Given the description of an element on the screen output the (x, y) to click on. 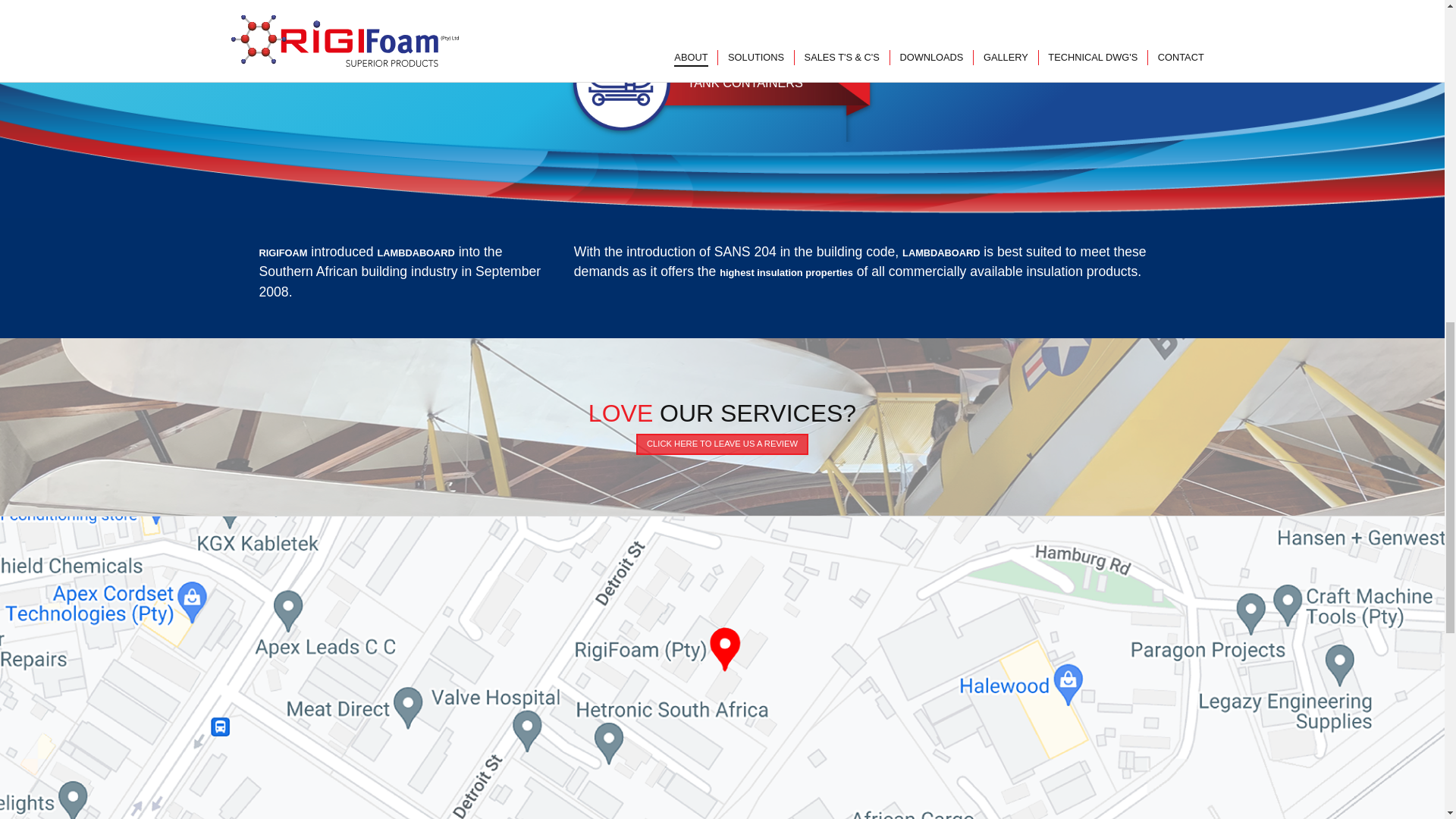
CLICK HERE TO LEAVE US A REVIEW (722, 444)
